Given the description of an element on the screen output the (x, y) to click on. 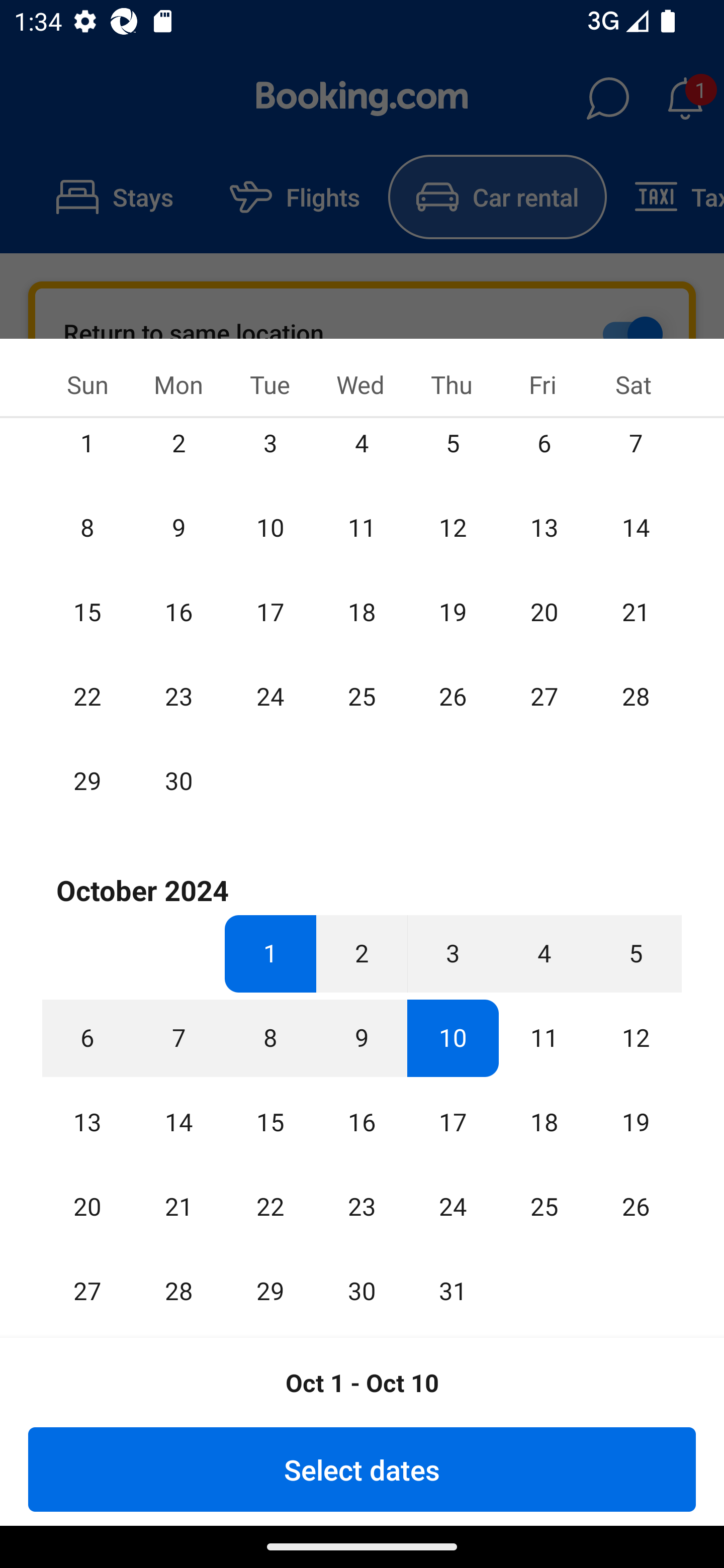
Select dates (361, 1468)
